Given the description of an element on the screen output the (x, y) to click on. 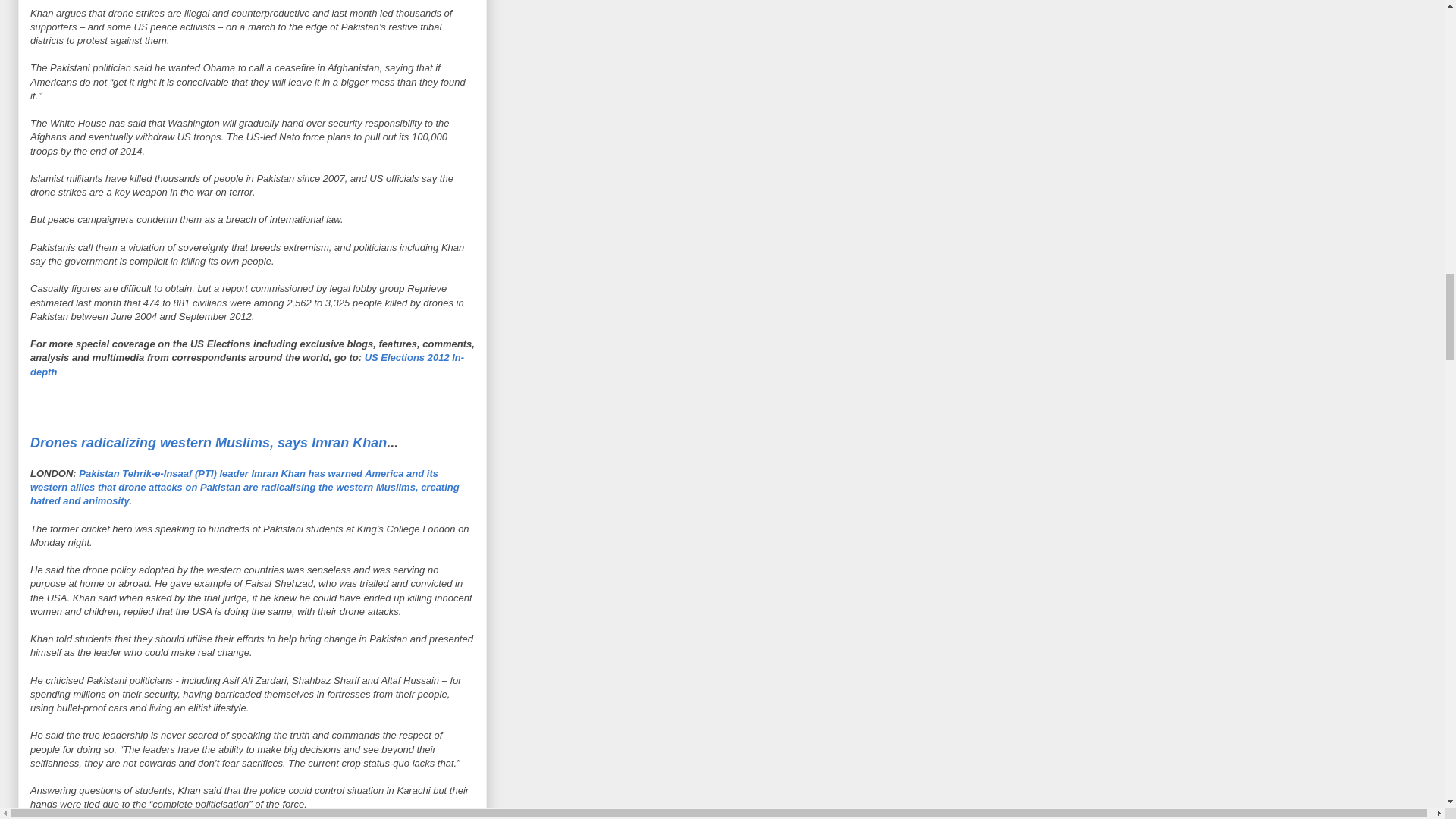
US Elections 2012 In-depth (247, 364)
Drones radicalizing western Muslims, says Imran Khan (208, 442)
